Given the description of an element on the screen output the (x, y) to click on. 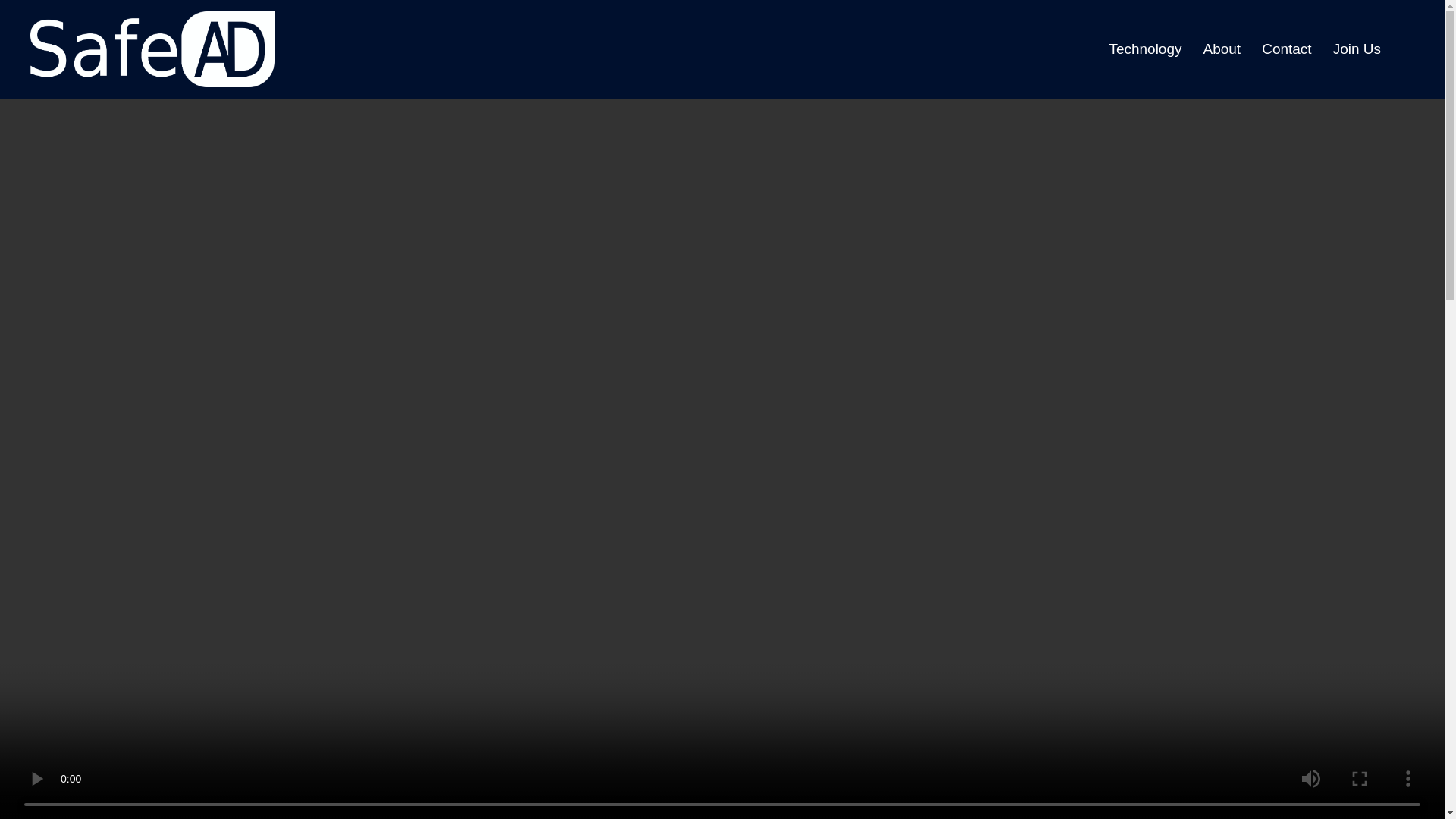
Join Us (1356, 48)
Technology (1144, 48)
About (1221, 48)
Contact (1286, 48)
SafeAD (152, 47)
